Given the description of an element on the screen output the (x, y) to click on. 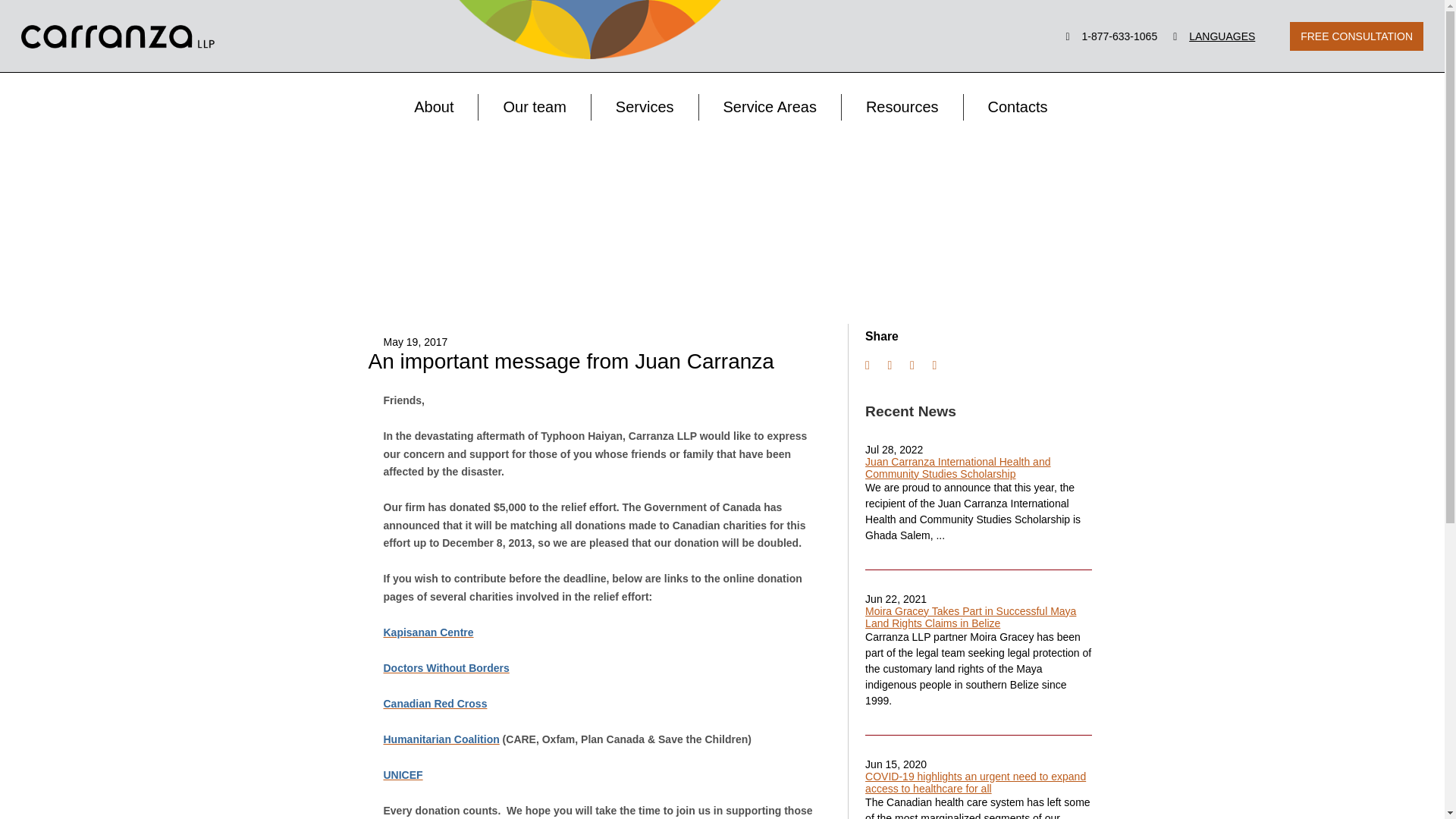
carranza llp logo (117, 34)
Our team  (535, 107)
